Given the description of an element on the screen output the (x, y) to click on. 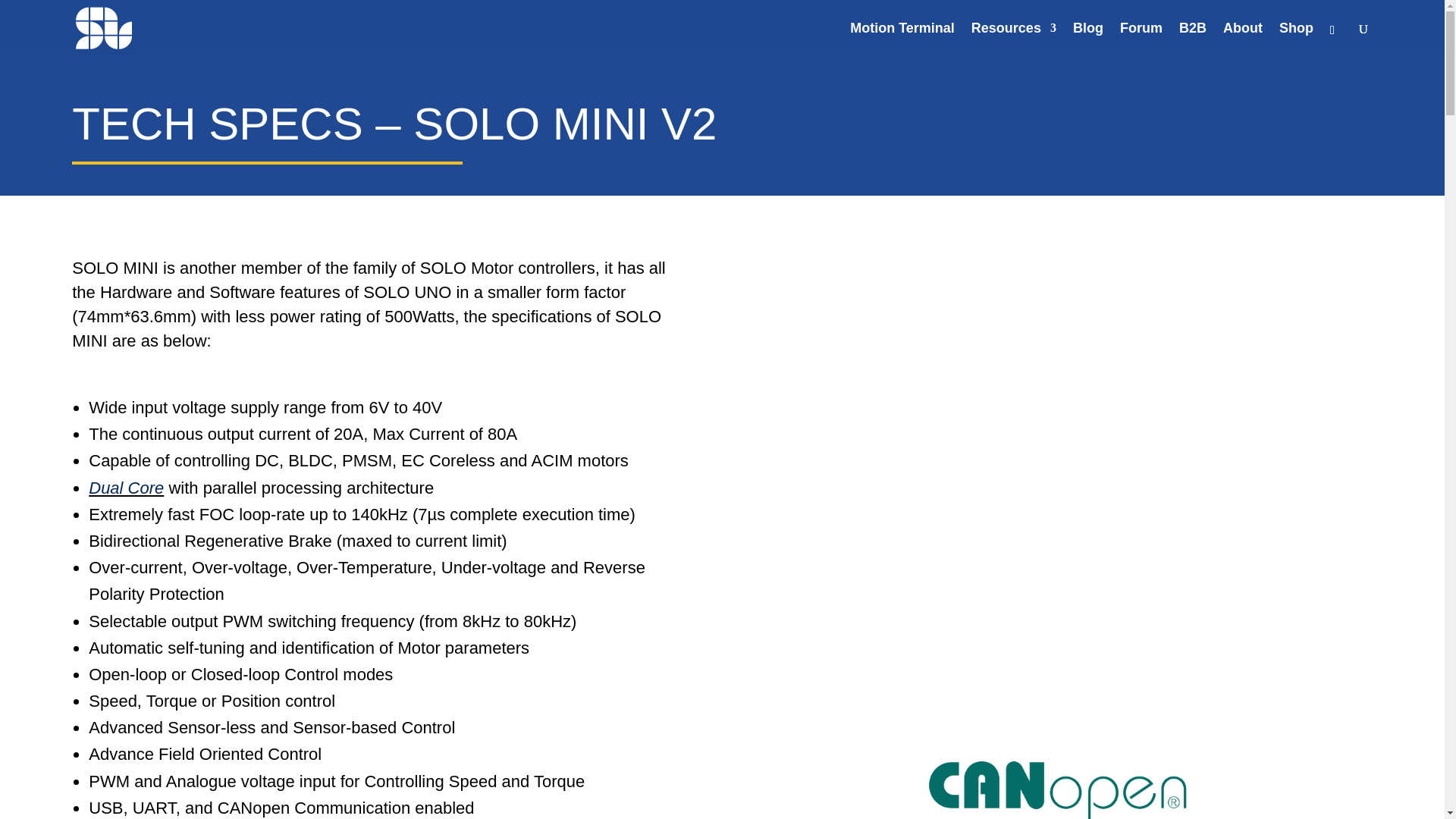
Resources (1014, 39)
Forum (1140, 39)
Motion Terminal (902, 39)
About (1242, 39)
Shop (1296, 39)
Dual Core (125, 487)
Blog (1088, 39)
